Given the description of an element on the screen output the (x, y) to click on. 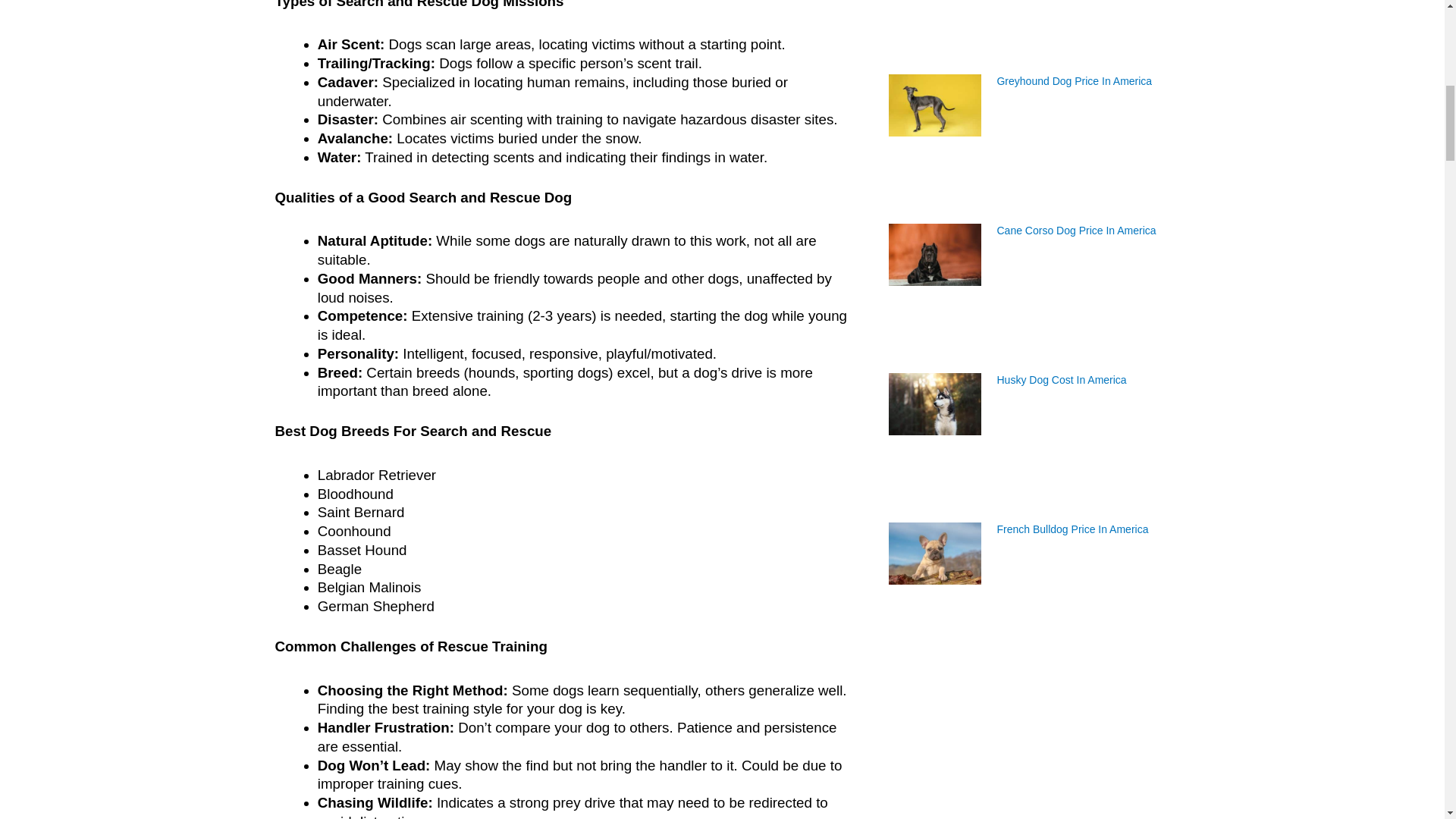
Cane Corso Dog Price In America  (1076, 230)
Greyhound Dog Price In America (1073, 80)
Husky Dog Cost In America (1060, 379)
French Bulldog Price In America (1071, 529)
